Given the description of an element on the screen output the (x, y) to click on. 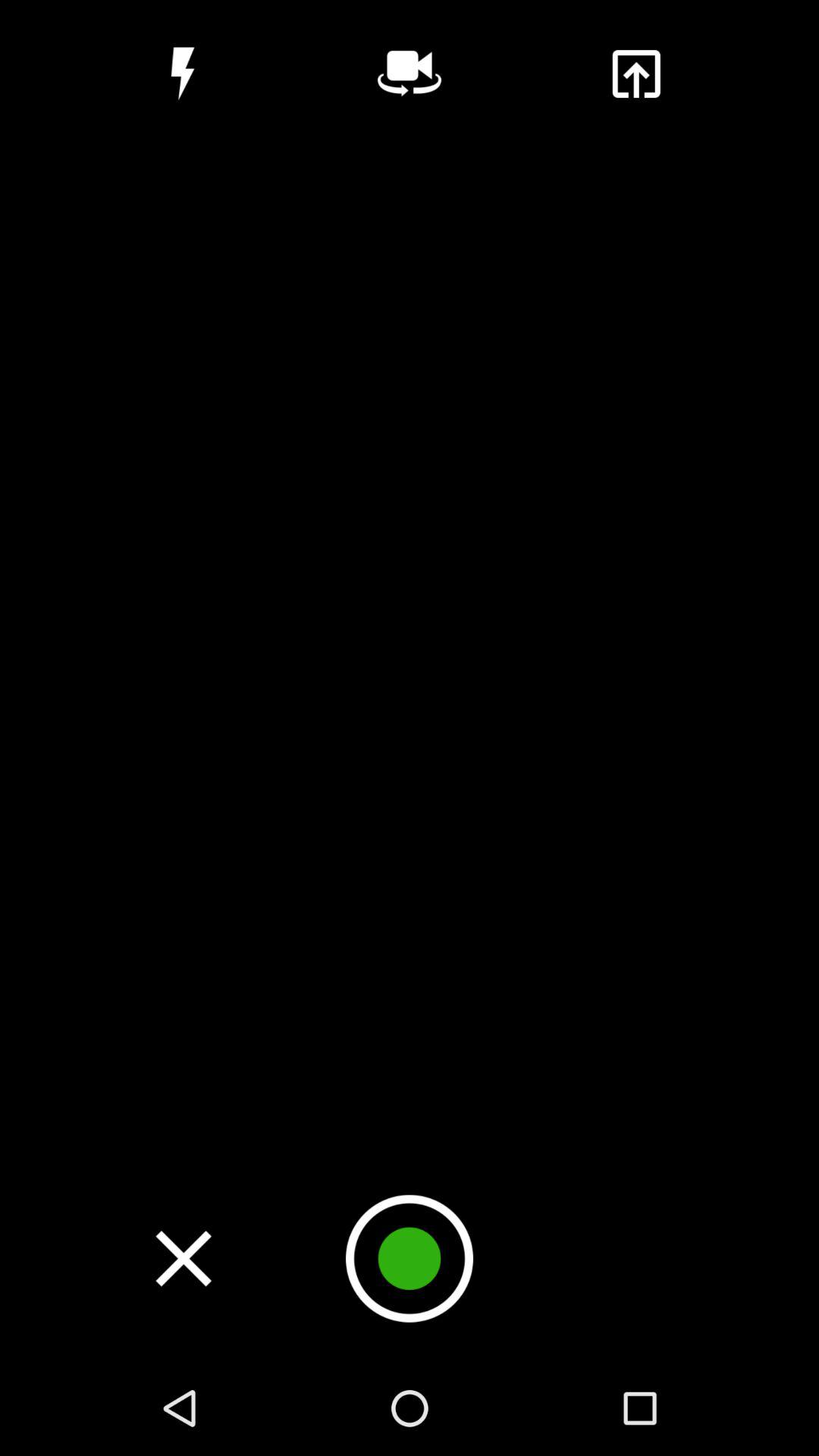
launch item at the top left corner (182, 73)
